Given the description of an element on the screen output the (x, y) to click on. 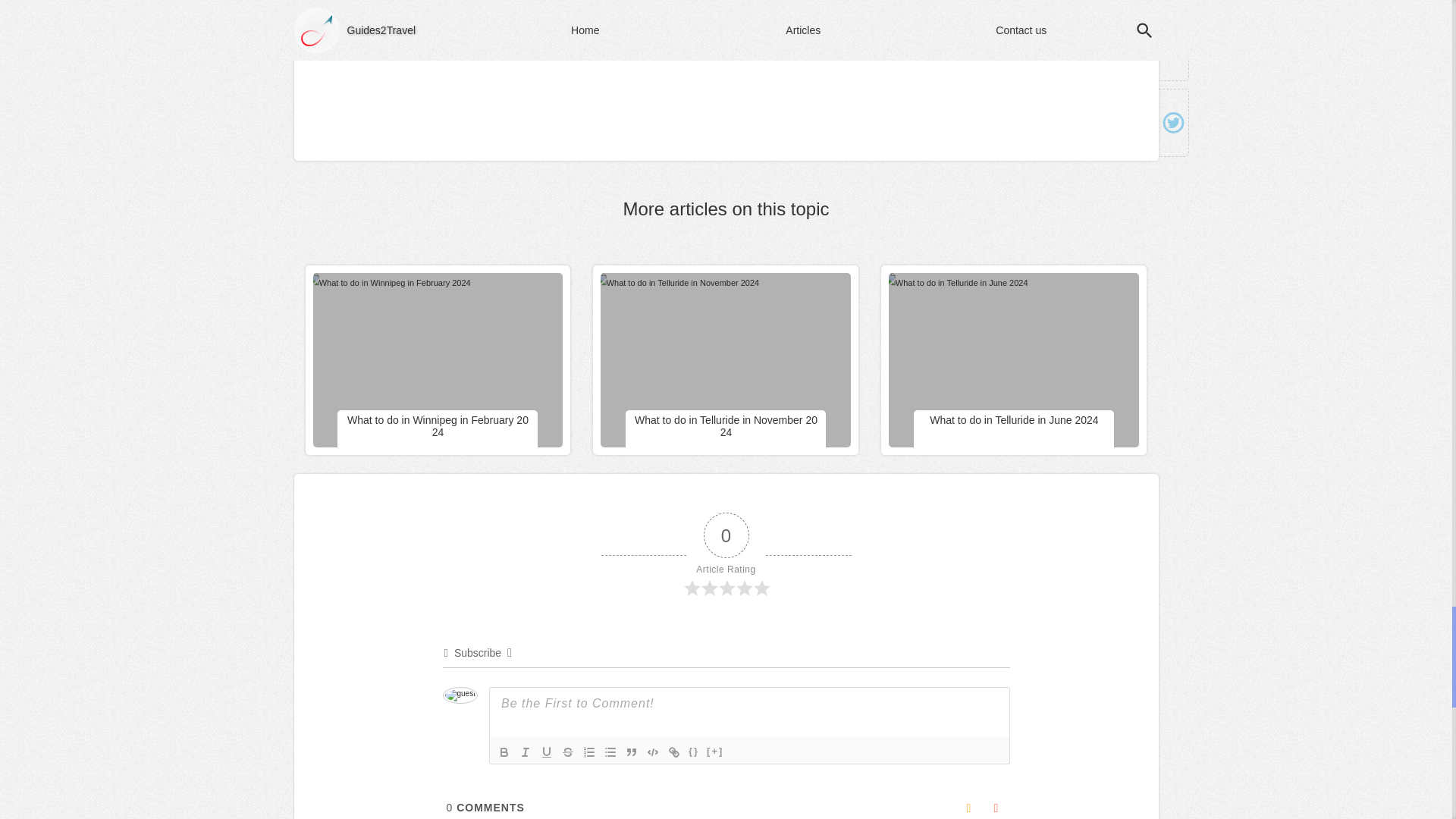
Source Code (693, 751)
Underline (546, 751)
Spoiler (714, 751)
What to do in Telluride in June 2024 (948, 282)
What to do in Winnipeg in February 2024 (380, 282)
Unordered List (610, 751)
Blockquote (631, 751)
Bold (504, 751)
Italic (525, 751)
What to do in Telluride in November 2024 (725, 426)
What to do in Telluride in November 2024 (669, 282)
Strike (567, 751)
Code Block (652, 751)
Ordered List (588, 751)
